Given the description of an element on the screen output the (x, y) to click on. 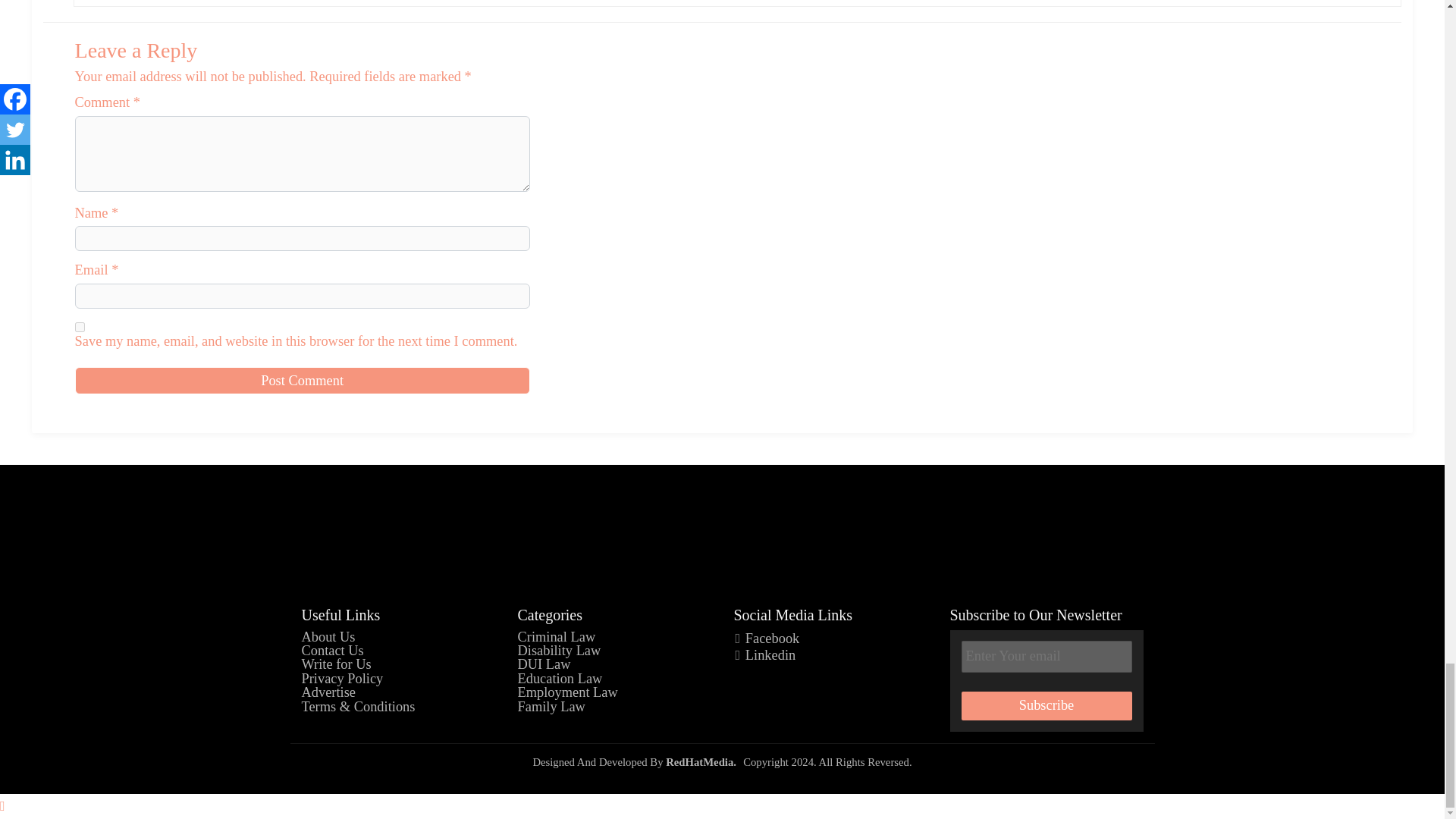
Write for Us (336, 663)
About Us (328, 636)
Subscribe (1046, 705)
yes (79, 327)
Contact Us (332, 650)
Post Comment (302, 379)
Post Comment (302, 379)
